Given the description of an element on the screen output the (x, y) to click on. 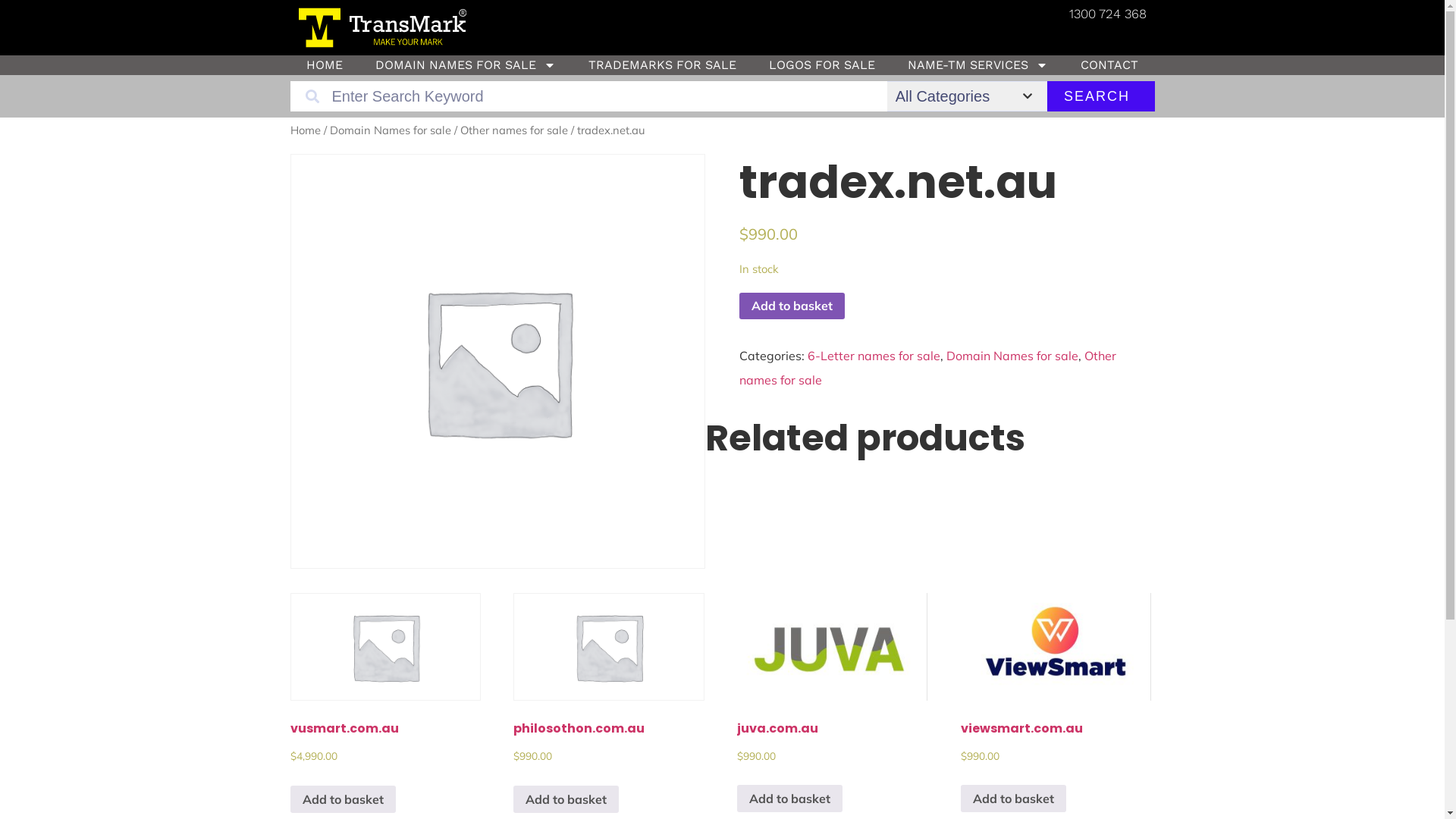
CONTACT Element type: text (1109, 65)
Domain Names for sale Element type: text (1012, 355)
NAME-TM SERVICES Element type: text (977, 65)
Add to basket Element type: text (789, 798)
SEARCH Element type: text (1096, 96)
Add to basket Element type: text (565, 798)
Add to basket Element type: text (791, 306)
Add to basket Element type: text (342, 798)
Add to basket Element type: text (1013, 798)
vusmart.com.au
$4,990.00 Element type: text (384, 699)
DOMAIN NAMES FOR SALE Element type: text (465, 65)
Other names for sale Element type: text (513, 129)
TRADEMARKS FOR SALE Element type: text (661, 65)
Home Element type: text (304, 129)
viewsmart.com.au
$990.00 Element type: text (1055, 699)
Other names for sale Element type: text (927, 367)
Domain Names for sale Element type: text (389, 129)
LOGOS FOR SALE Element type: text (821, 65)
6-Letter names for sale Element type: text (873, 355)
HOME Element type: text (323, 65)
juva.com.au
$990.00 Element type: text (832, 699)
philosothon.com.au
$990.00 Element type: text (608, 699)
